Given the description of an element on the screen output the (x, y) to click on. 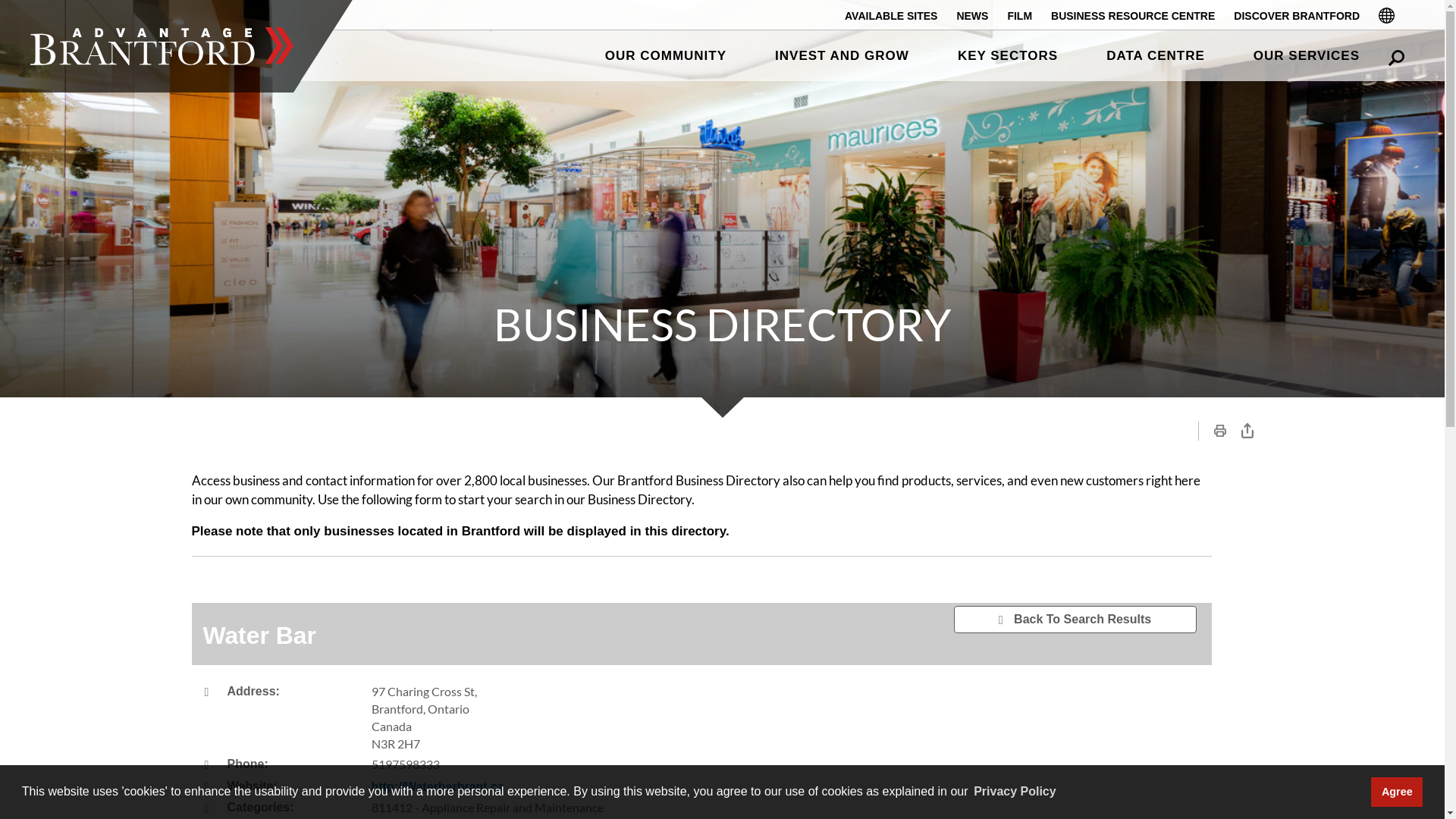
Share this page Element type: hover (1246, 430)
FILM Element type: text (1019, 15)
Click to return to the homepage Element type: hover (161, 46)
Increase text size Element type: hover (1177, 430)
Print This Page Element type: hover (1219, 430)
KEY SECTORS Element type: text (1007, 55)
AVAILABLE SITES Element type: text (890, 15)
Back To Search Results Element type: text (1074, 619)
Decrease text size Element type: hover (1149, 430)
DISCOVER BRANTFORD Element type: text (1296, 15)
Default text size Element type: hover (1162, 430)
http://Waterbarbrant.ca Element type: text (437, 786)
Skip to Content Element type: text (0, 0)
BUSINESS RESOURCE CENTRE Element type: text (1132, 15)
DATA CENTRE Element type: text (1155, 55)
INVEST AND GROW Element type: text (841, 55)
View our Homepage Element type: hover (161, 46)
NEWS Element type: text (972, 15)
Privacy Policy Element type: text (1014, 791)
OUR COMMUNITY Element type: text (665, 55)
OUR SERVICES Element type: text (1306, 55)
Agree Element type: text (1396, 791)
